Given the description of an element on the screen output the (x, y) to click on. 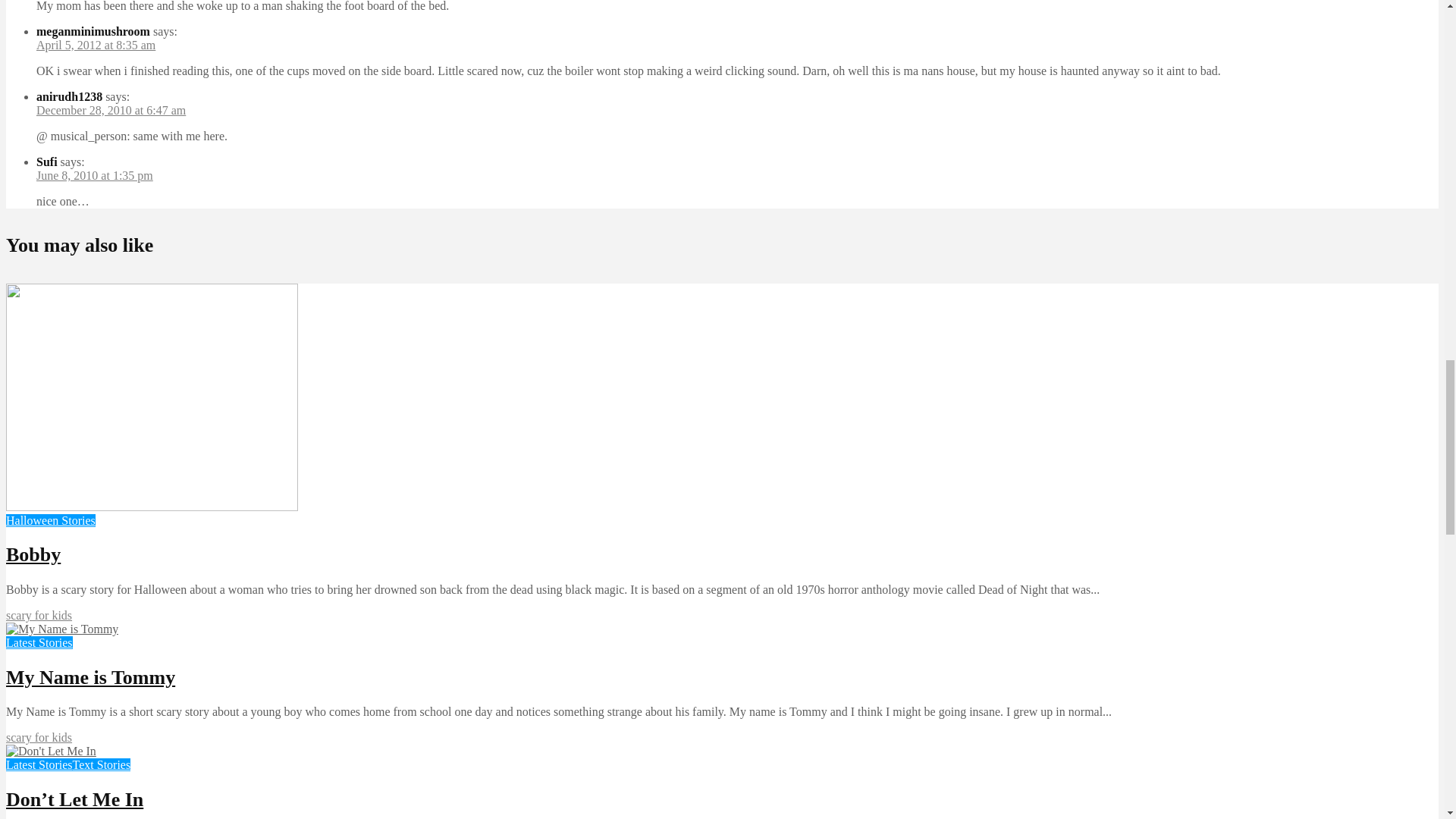
April 5, 2012 at 8:35 am (95, 44)
December 28, 2010 at 6:47 am (111, 110)
Bobby (151, 506)
Halloween Stories (50, 520)
My Name is Tommy (61, 628)
June 8, 2010 at 1:35 pm (94, 174)
